Given the description of an element on the screen output the (x, y) to click on. 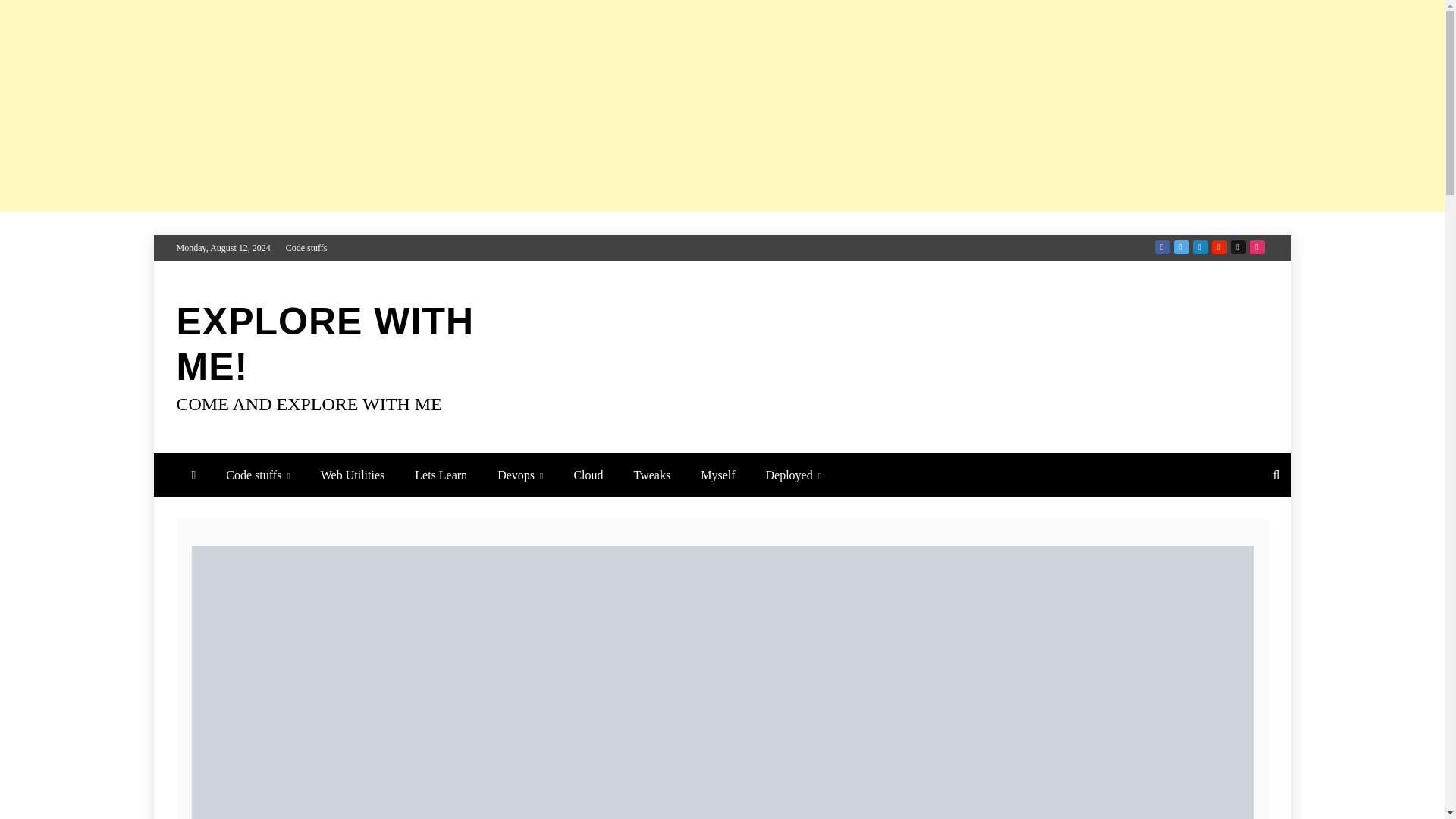
Github (1237, 246)
Lets Learn (439, 474)
Tweaks (651, 474)
Code stuffs (306, 247)
Cloud (587, 474)
Deployed (794, 474)
Linkedin (1199, 246)
EXPLORE WITH ME! (325, 344)
Code stuffs (257, 474)
